Given the description of an element on the screen output the (x, y) to click on. 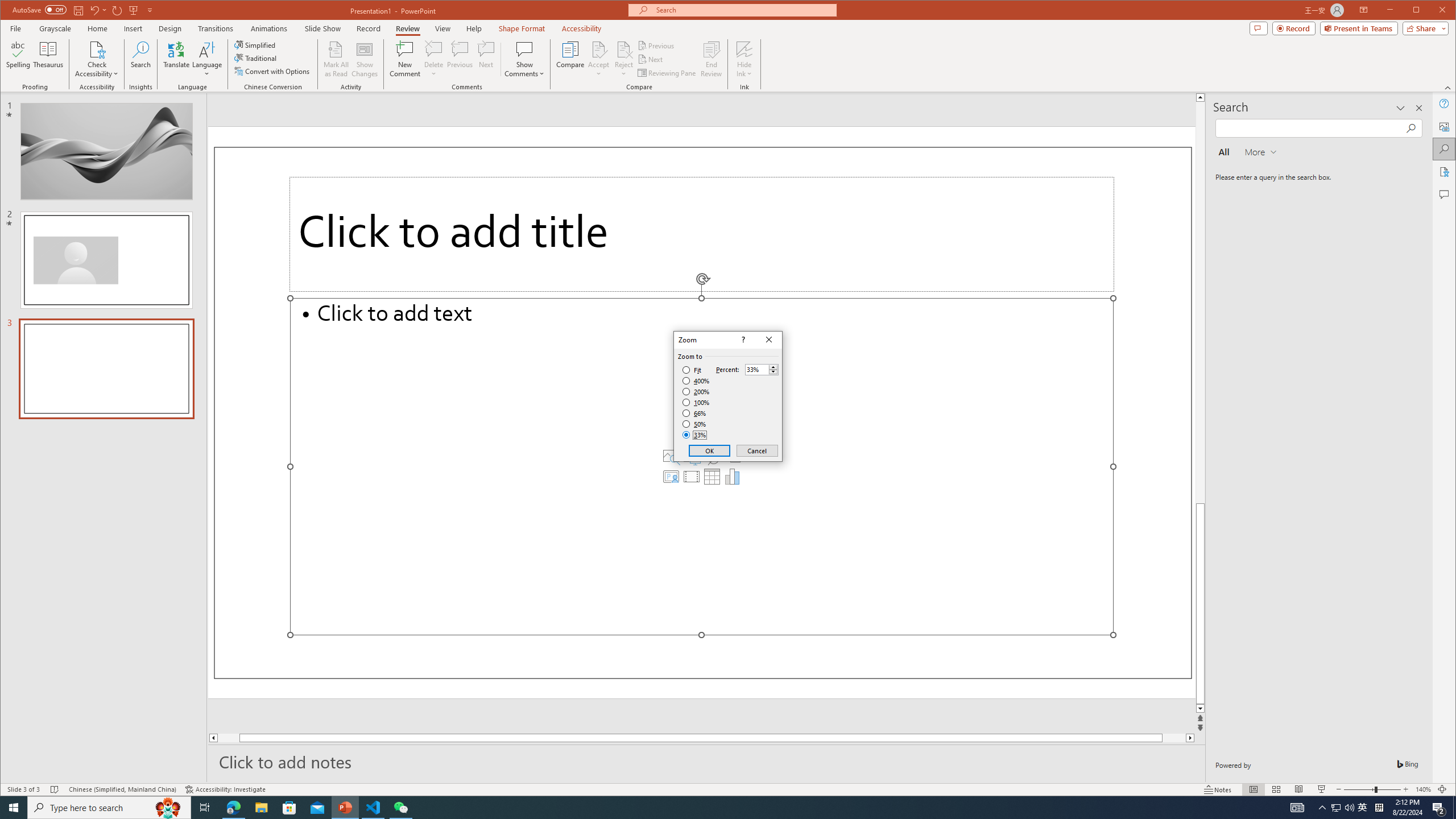
Insert Video (691, 476)
WeChat - 1 running window (400, 807)
Accept Change (598, 48)
